Given the description of an element on the screen output the (x, y) to click on. 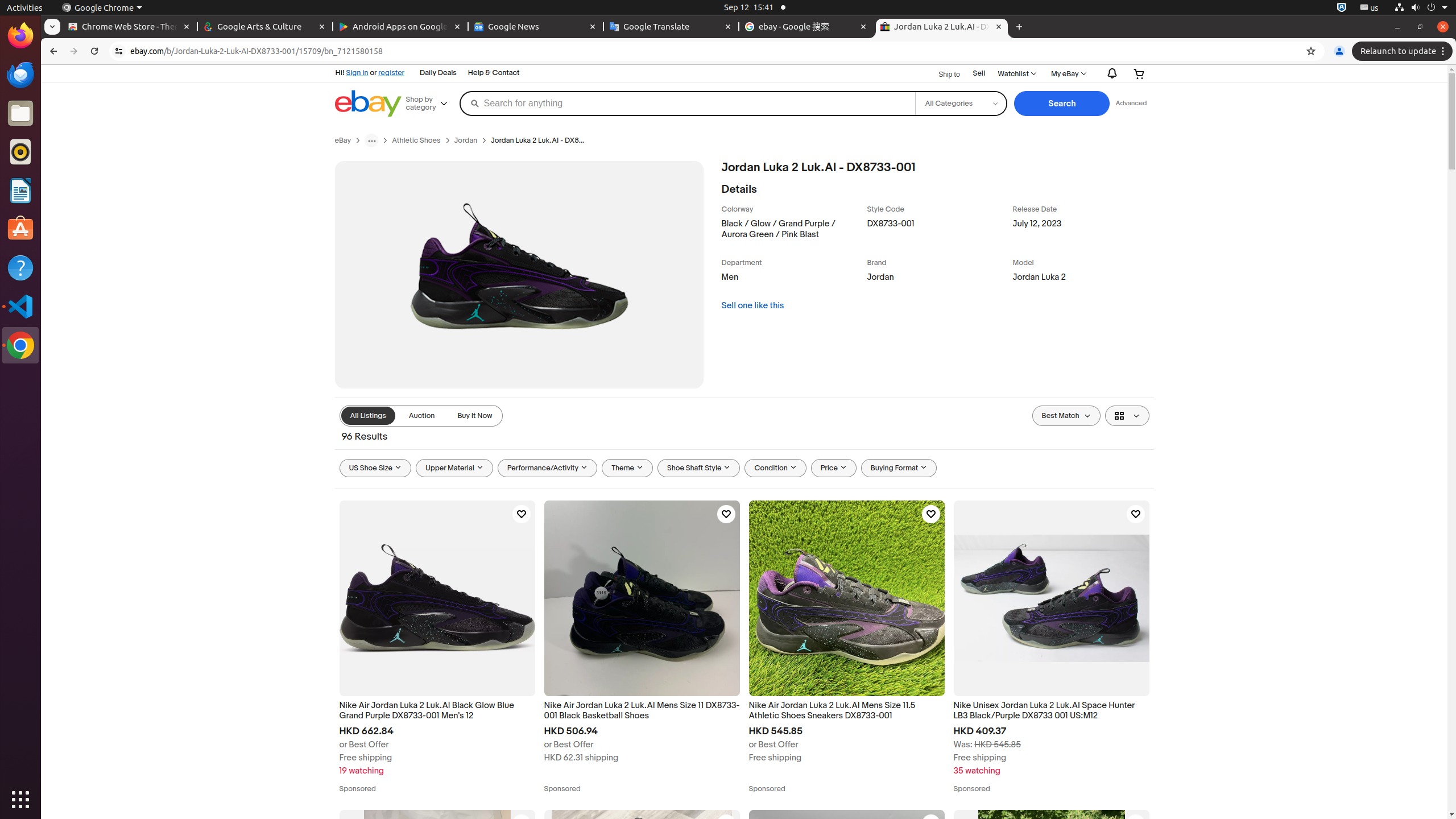
Search Element type: push-button (1062, 103)
Ubuntu Software Element type: push-button (20, 229)
Sell one like this Jordan Luka 2 Luk.AI - DX8733-001 Element type: link (752, 305)
You Element type: push-button (1339, 50)
Click to watch item - Nike Air Jordan Luka 2 Luk.AI Mens Size 11.5 Athletic Shoes Sneakers DX8733-001 Element type: push-button (930, 514)
